Given the description of an element on the screen output the (x, y) to click on. 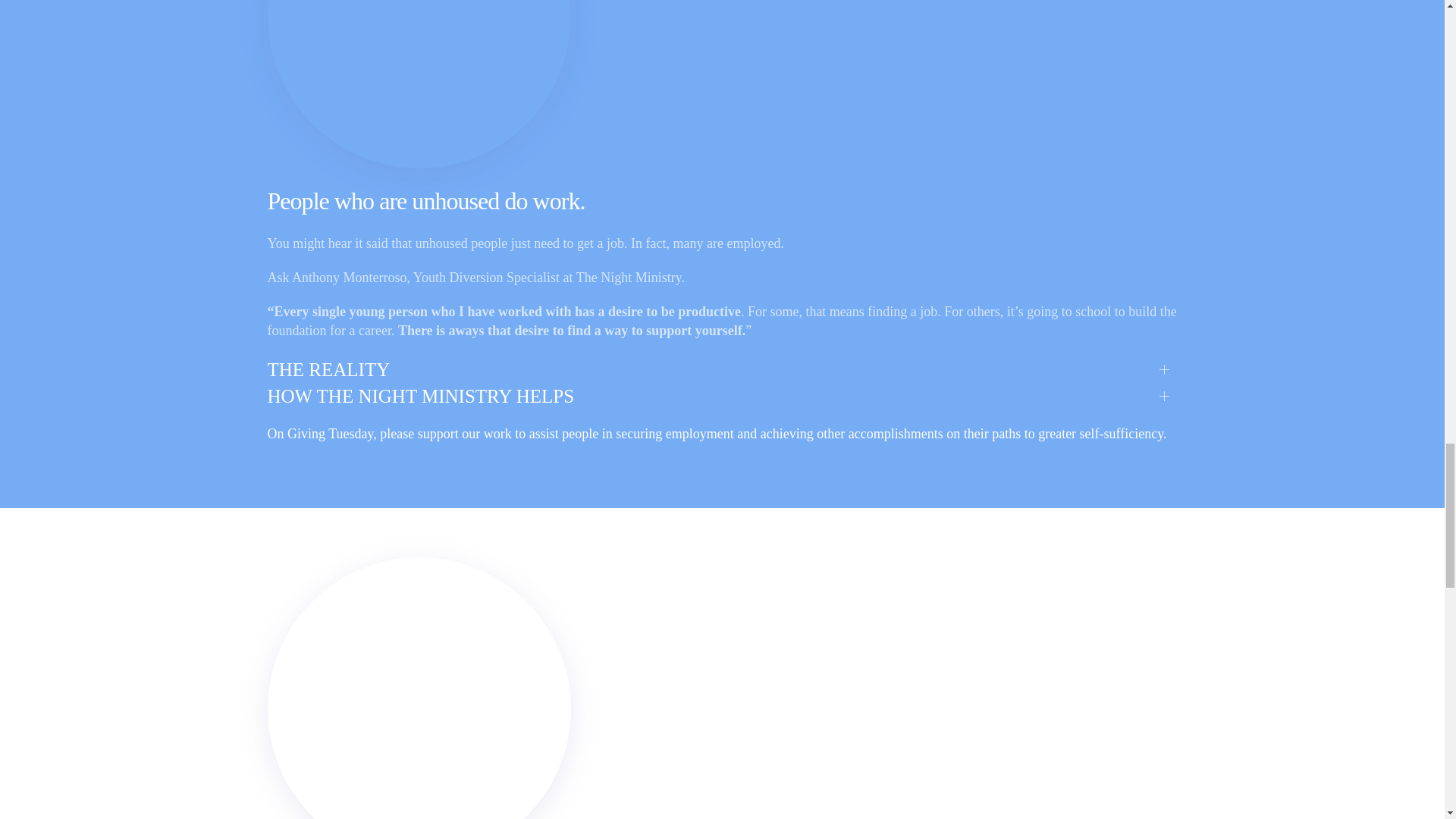
HOW THE NIGHT MINISTRY HELPS (721, 396)
THE REALITY (721, 369)
